Given the description of an element on the screen output the (x, y) to click on. 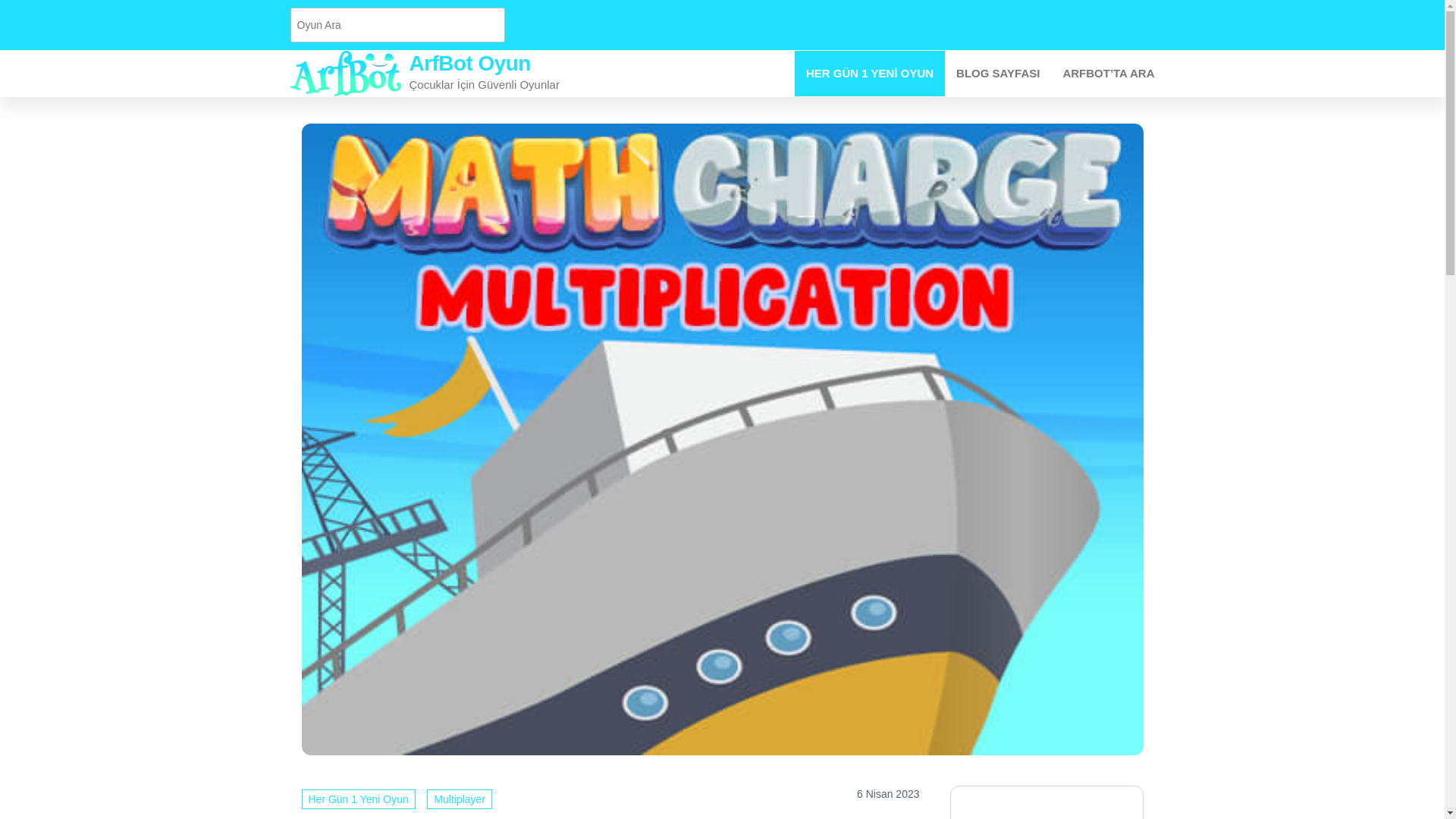
Advertisement (1046, 809)
Multiplayer (459, 798)
BLOG SAYFASI (997, 73)
ArfBot'ta Ara (1108, 73)
ArfBot Oyun (469, 63)
